Given the description of an element on the screen output the (x, y) to click on. 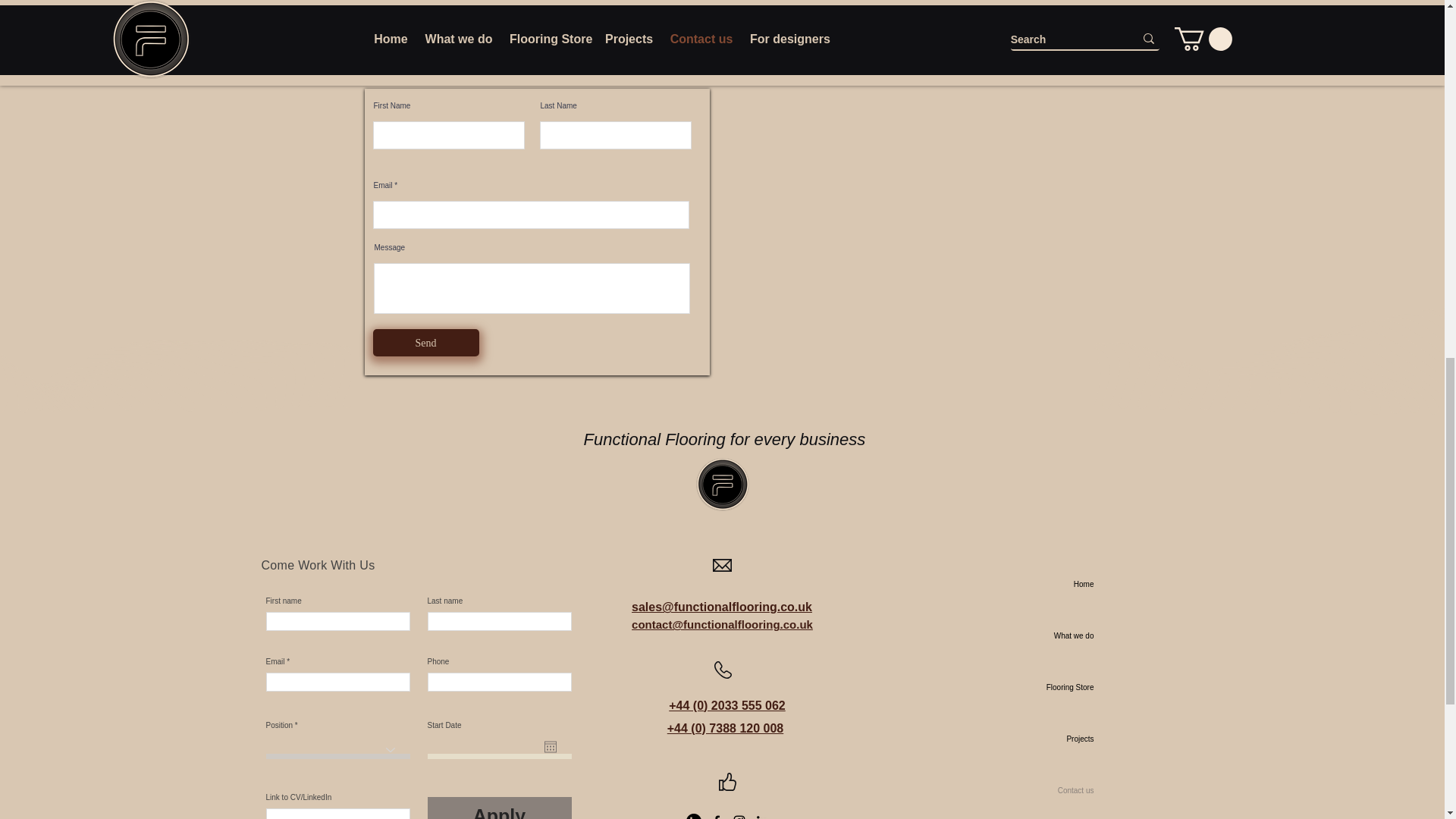
Apply (500, 807)
What we do (1042, 635)
Fuctional Flooring for every business (722, 484)
Send (425, 342)
Flooring Store (1042, 687)
Home (1042, 584)
